Given the description of an element on the screen output the (x, y) to click on. 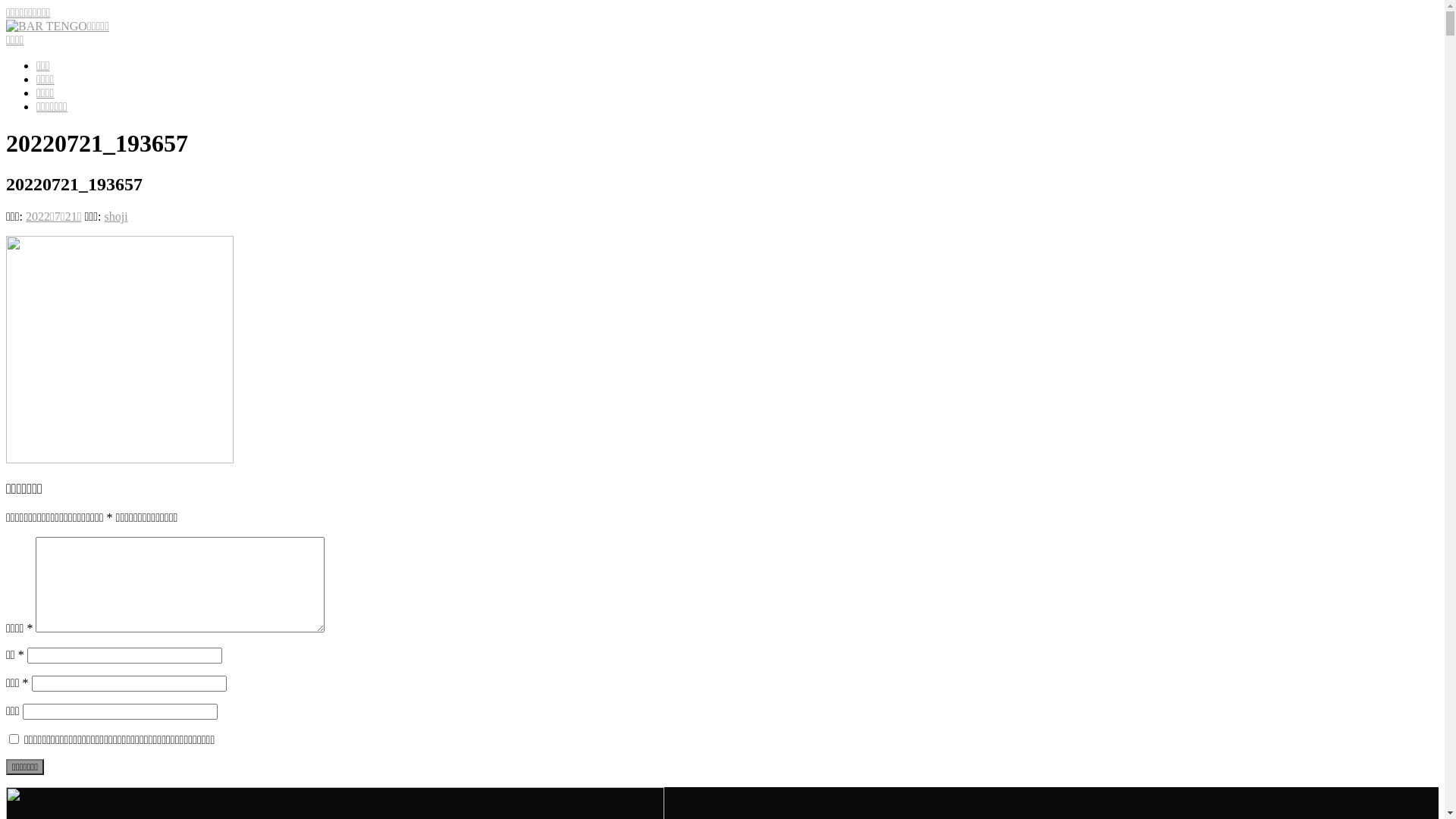
shoji Element type: text (116, 216)
